Given the description of an element on the screen output the (x, y) to click on. 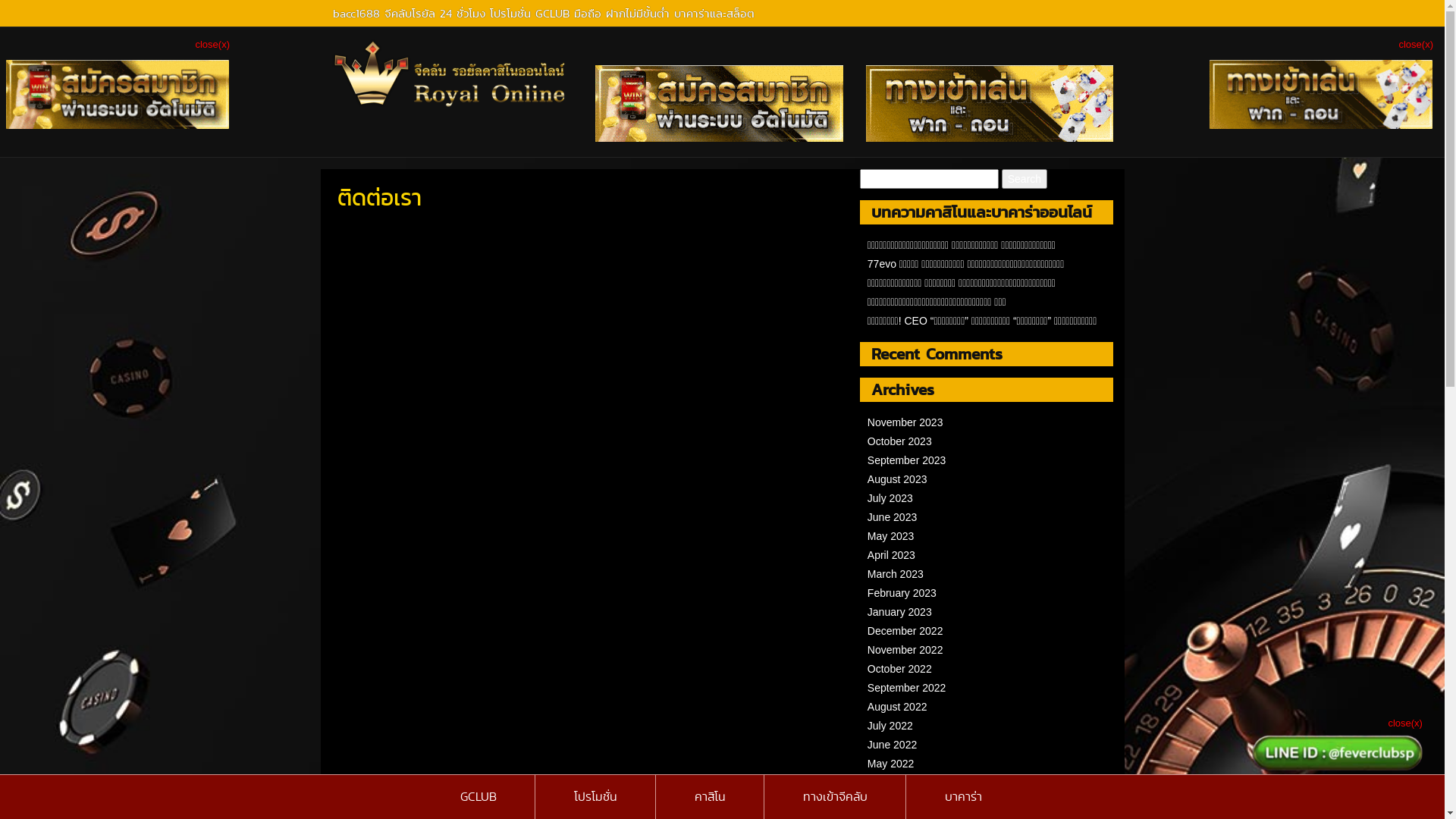
May 2022 Element type: text (890, 763)
July 2023 Element type: text (890, 498)
March 2022 Element type: text (895, 801)
close(x) Element type: text (1415, 44)
May 2023 Element type: text (890, 536)
close(x) Element type: text (1404, 722)
June 2022 Element type: text (891, 744)
April 2022 Element type: text (891, 782)
April 2023 Element type: text (891, 555)
February 2023 Element type: text (901, 592)
January 2023 Element type: text (899, 611)
close(x) Element type: text (211, 44)
July 2022 Element type: text (890, 725)
August 2022 Element type: text (897, 706)
June 2023 Element type: text (891, 517)
September 2022 Element type: text (906, 687)
November 2023 Element type: text (905, 422)
March 2023 Element type: text (895, 573)
October 2022 Element type: text (899, 668)
August 2023 Element type: text (897, 479)
Search Element type: text (1024, 178)
December 2022 Element type: text (905, 630)
October 2023 Element type: text (899, 441)
September 2023 Element type: text (906, 460)
November 2022 Element type: text (905, 649)
